Given the description of an element on the screen output the (x, y) to click on. 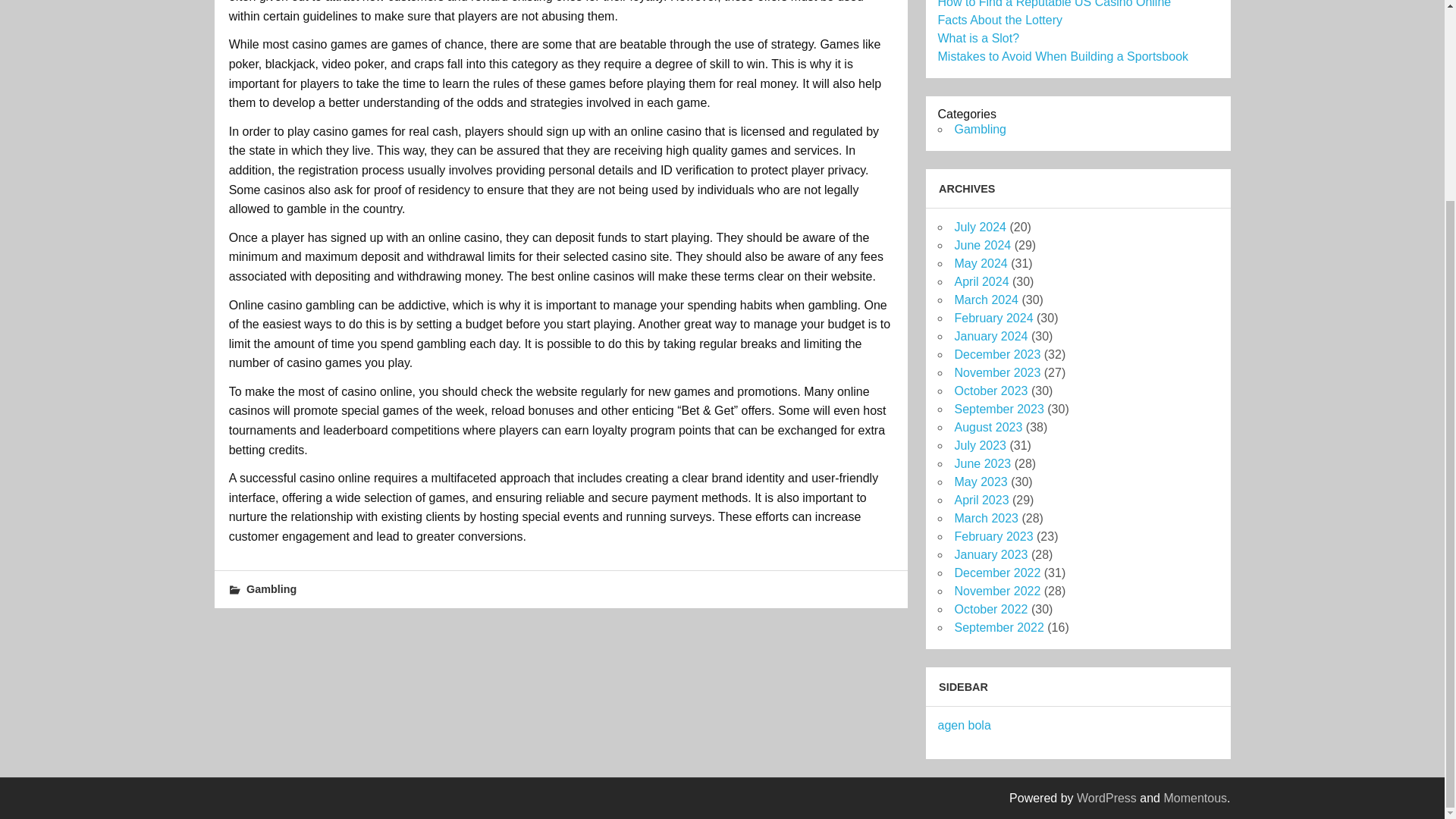
April 2023 (981, 499)
January 2024 (990, 336)
May 2023 (980, 481)
March 2024 (985, 299)
October 2022 (990, 608)
Momentous (1195, 797)
June 2024 (981, 245)
WordPress (1107, 797)
Momentous WordPress Theme (1195, 797)
What is a Slot? (978, 38)
November 2022 (997, 590)
February 2023 (992, 535)
June 2023 (981, 463)
Mistakes to Avoid When Building a Sportsbook (1062, 56)
Facts About the Lottery (999, 19)
